Given the description of an element on the screen output the (x, y) to click on. 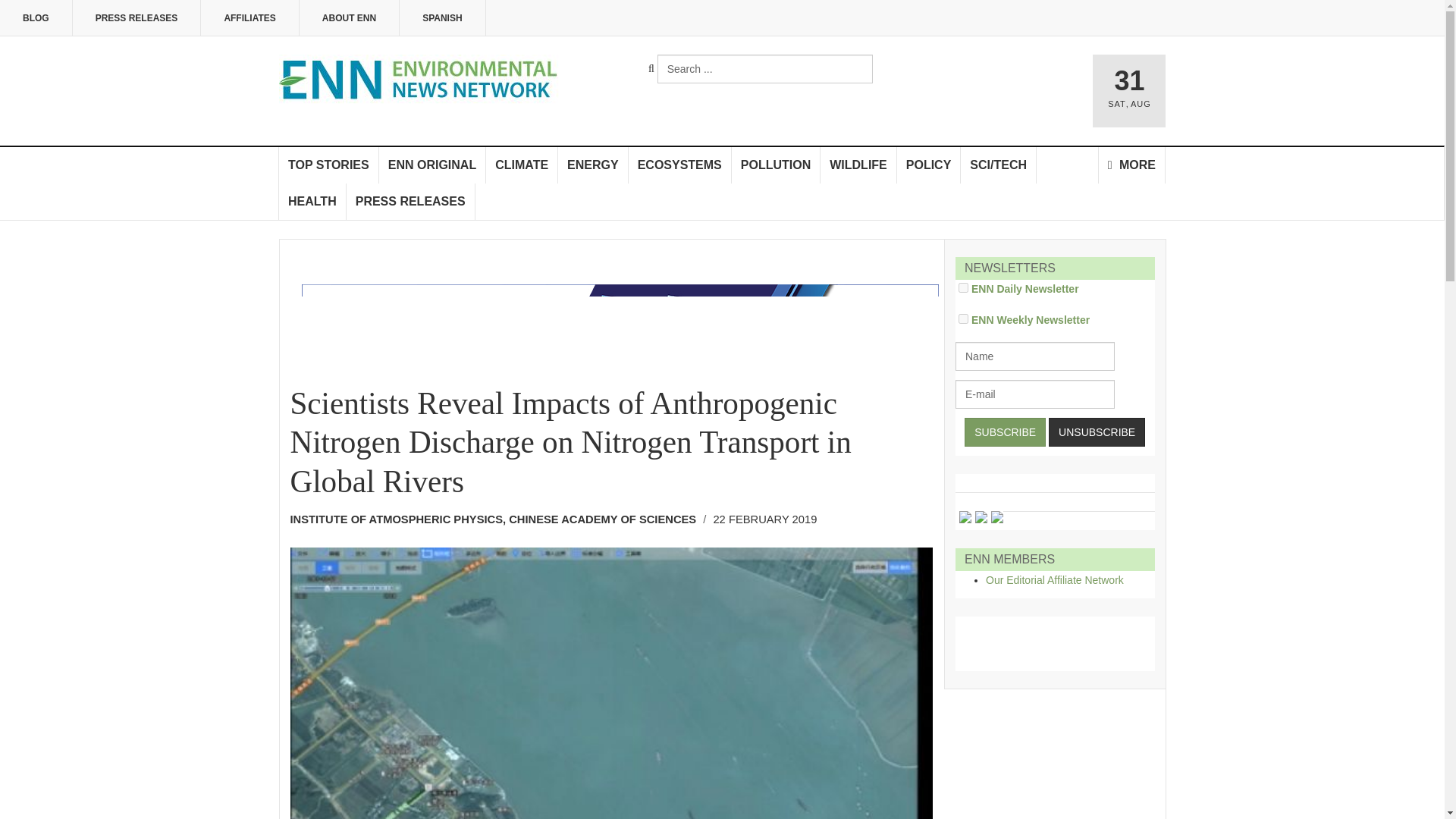
ABOUT ENN (348, 18)
AFFILIATES (249, 18)
Search ... (765, 68)
SPANISH (441, 18)
Subscribe (1004, 431)
POLICY (928, 165)
E-mail (1035, 394)
TOP STORIES (328, 165)
Name (1035, 356)
POLLUTION (776, 165)
